Given the description of an element on the screen output the (x, y) to click on. 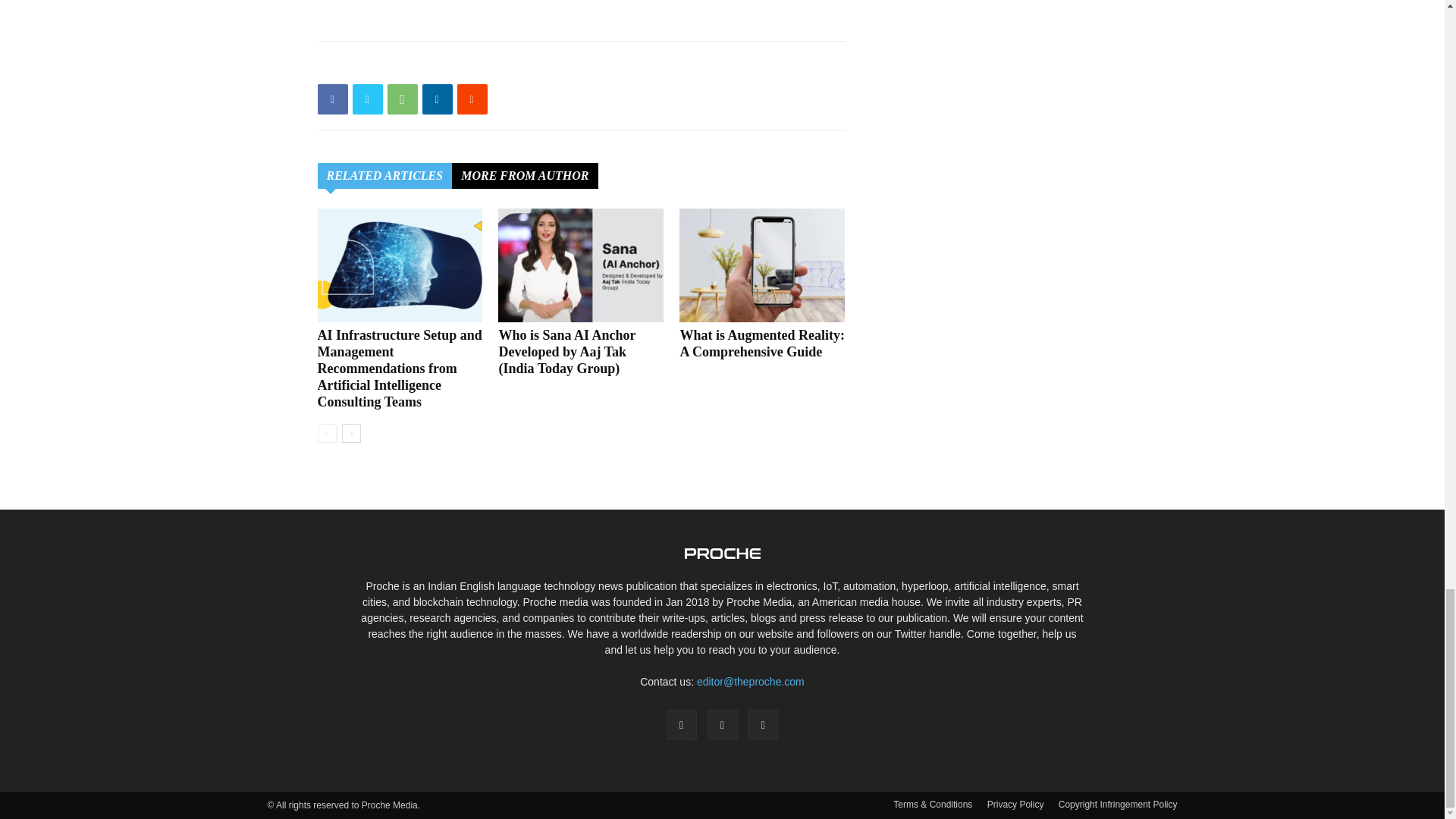
bottomFacebookLike (430, 65)
